Given the description of an element on the screen output the (x, y) to click on. 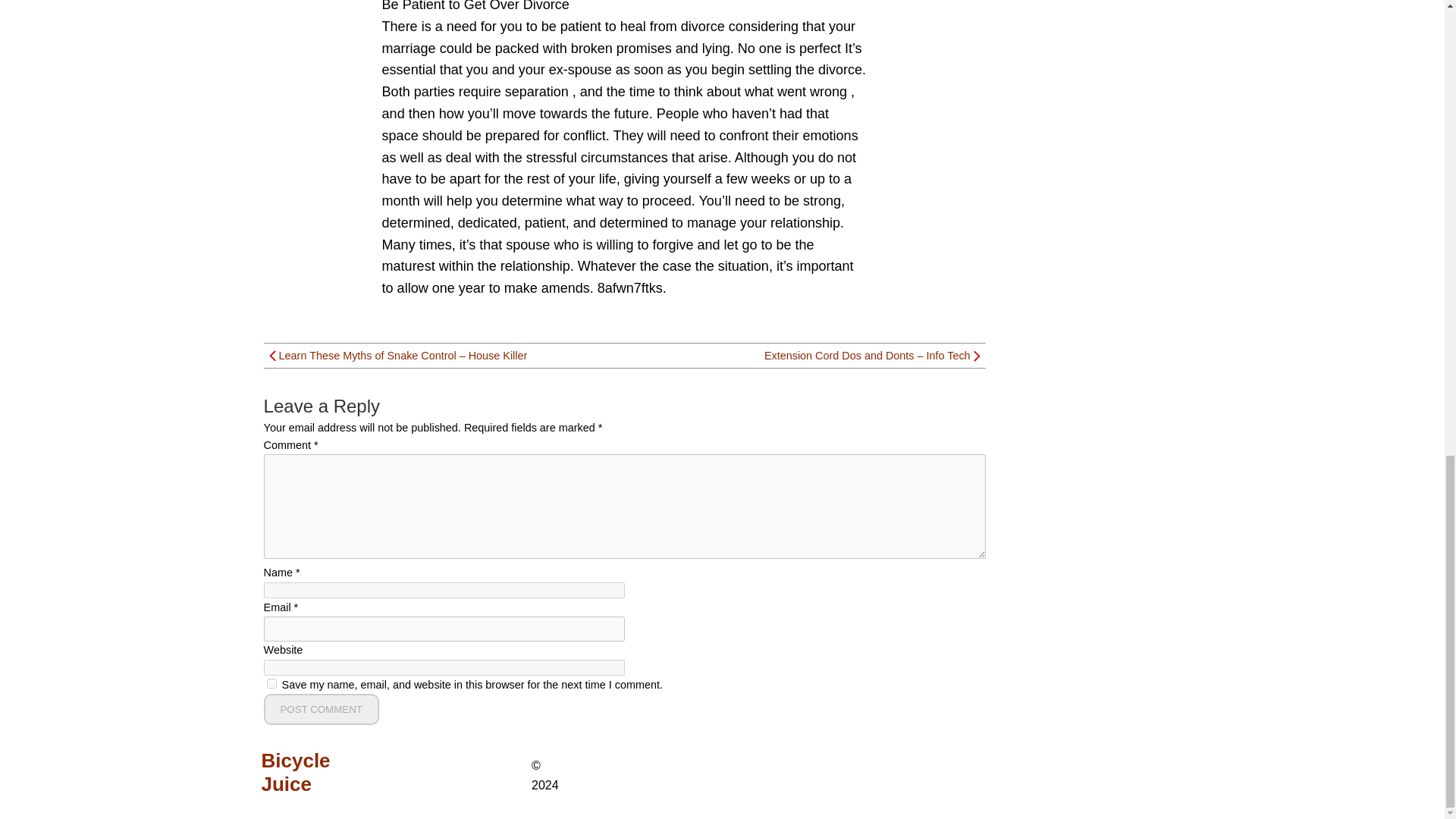
Bicycle Juice (317, 772)
Post Comment (320, 708)
yes (271, 683)
Post Comment (320, 708)
